Given the description of an element on the screen output the (x, y) to click on. 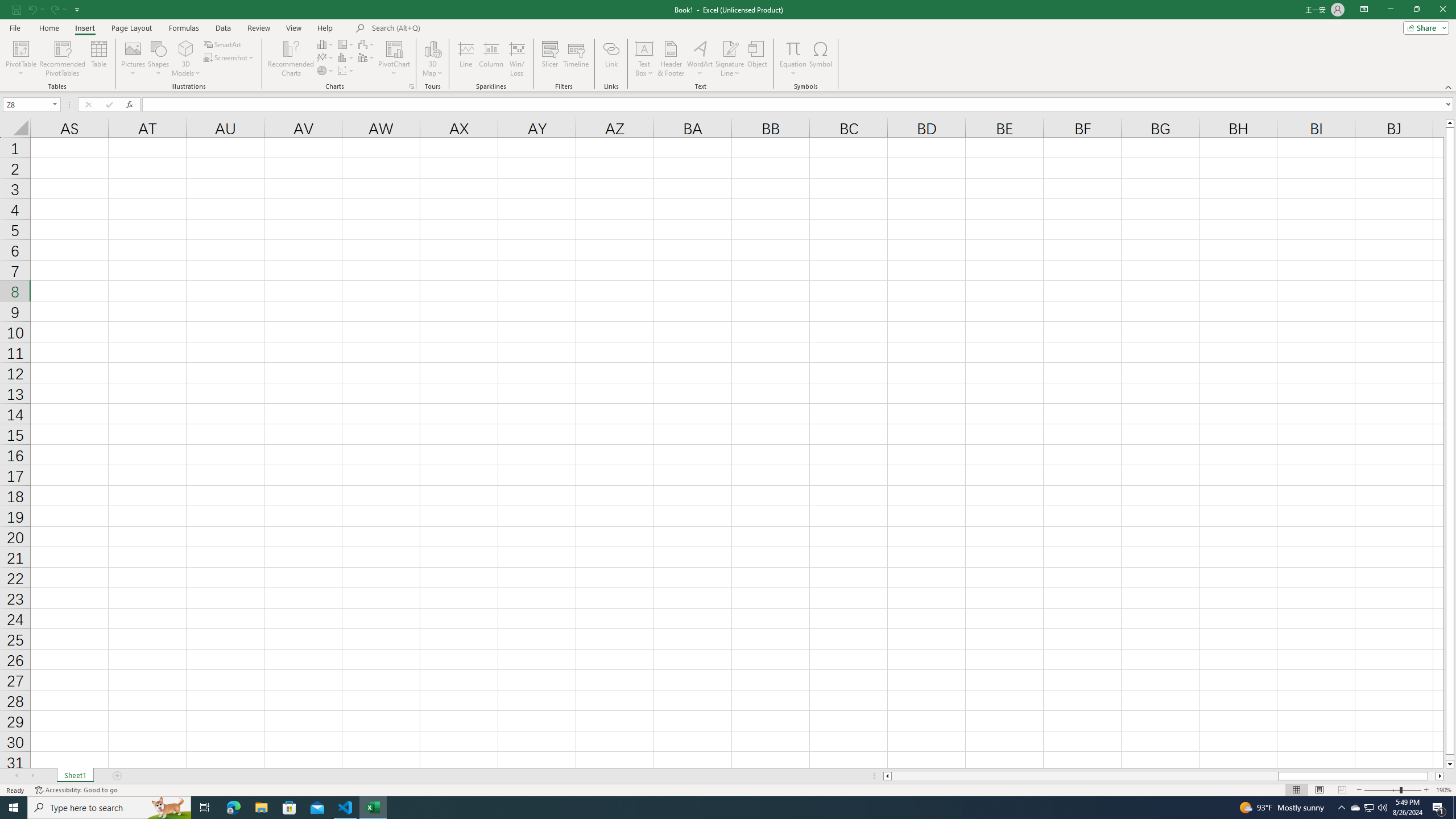
Draw Horizontal Text Box (643, 48)
WordArt (699, 58)
Insert Statistic Chart (346, 56)
Equation (793, 48)
Insert Waterfall, Funnel, Stock, Surface, or Radar Chart (366, 44)
Symbol... (821, 58)
PivotTable (20, 48)
